Given the description of an element on the screen output the (x, y) to click on. 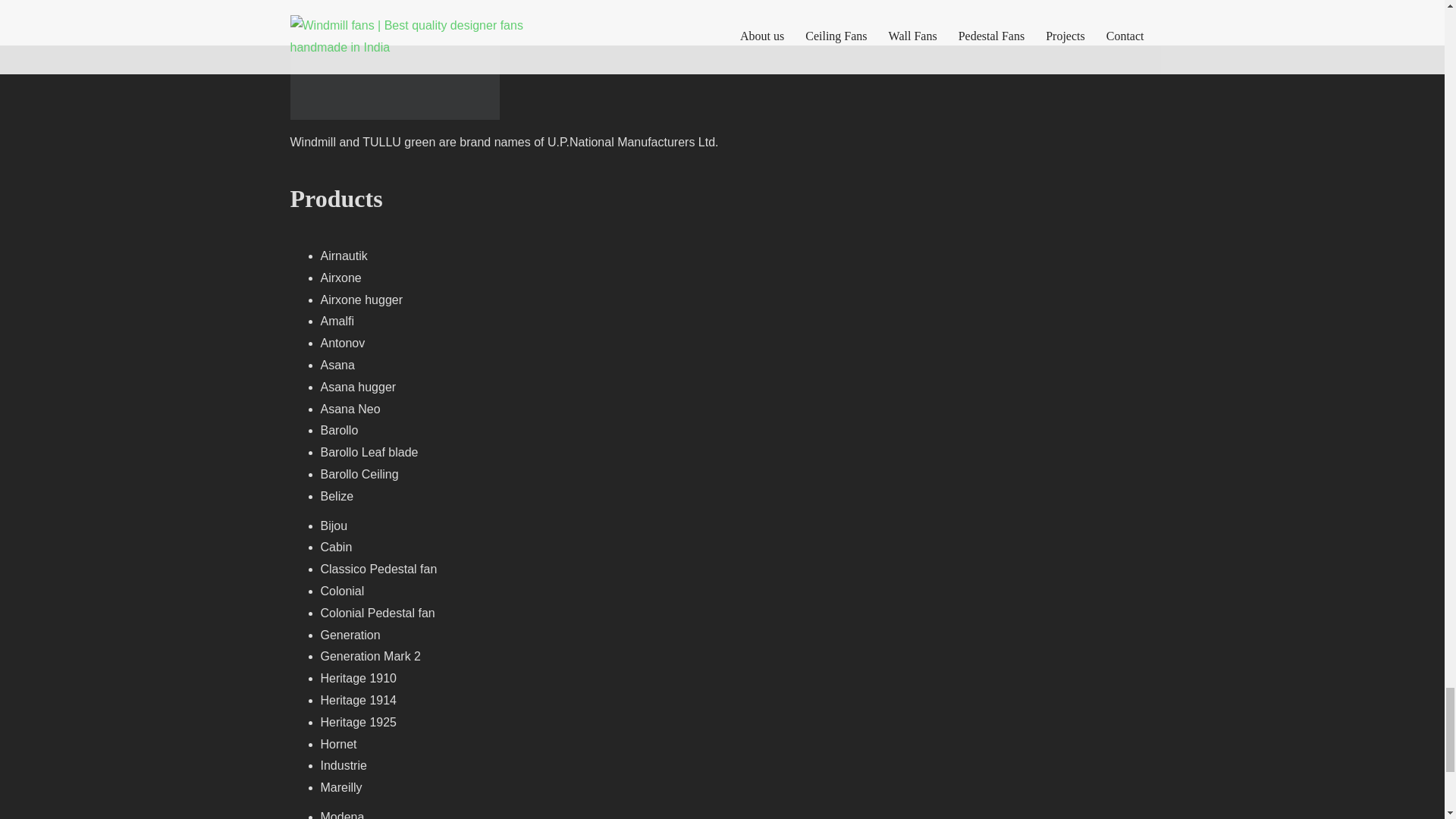
Generation Mark 2 (370, 656)
Barollo (339, 430)
Amalfi (336, 320)
Antonov (342, 342)
Asana Neo (350, 408)
Classico Pedestal fan (378, 568)
Airxone (340, 277)
Barollo Leaf blade (368, 451)
Generation (350, 634)
Airxone hugger (361, 299)
